Given the description of an element on the screen output the (x, y) to click on. 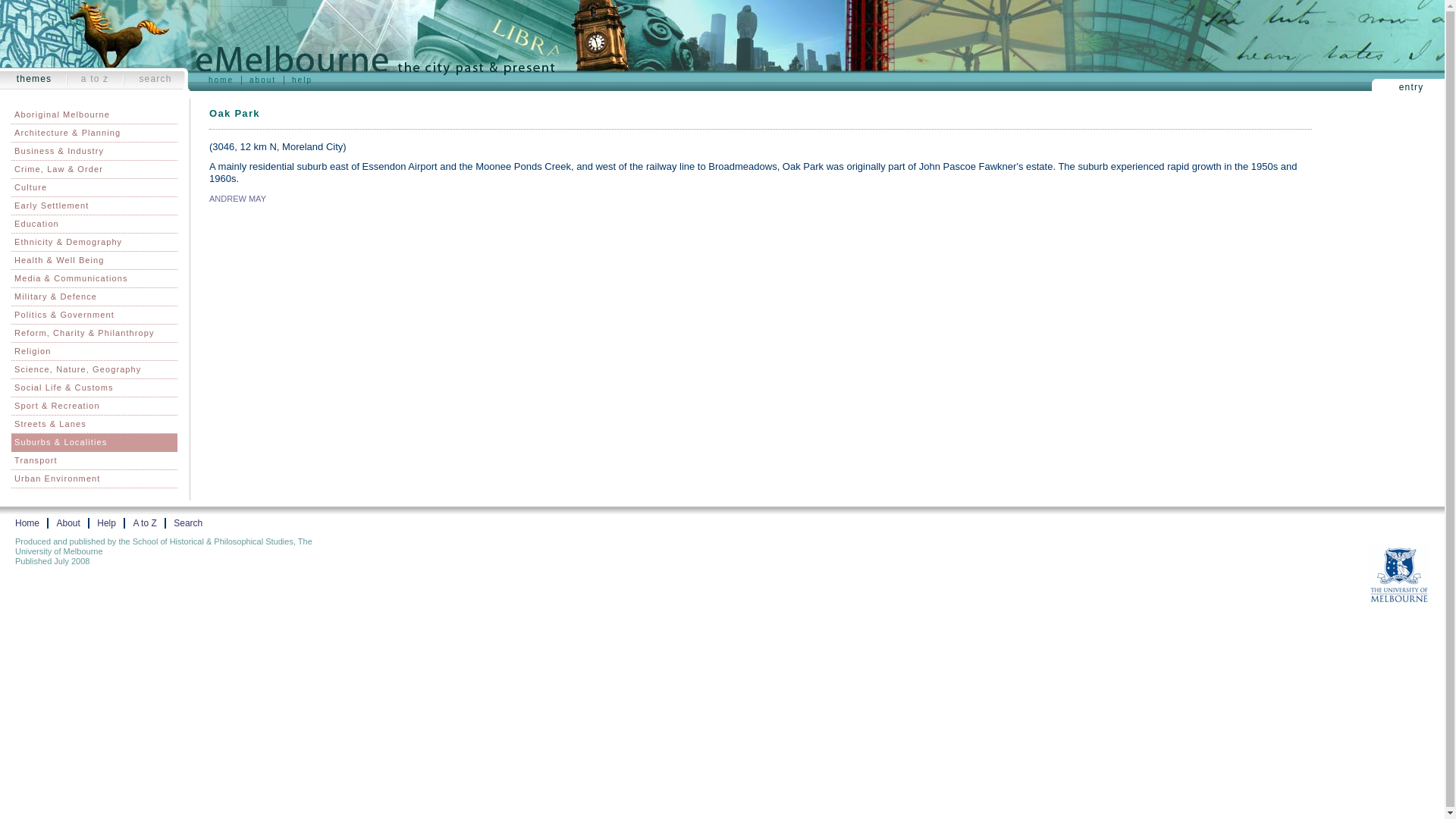
a to z Element type: text (95, 78)
Culture Element type: text (94, 187)
Military & Defence Element type: text (94, 297)
Politics & Government Element type: text (94, 315)
entry Element type: text (1410, 86)
Education Element type: text (94, 224)
Transport Element type: text (94, 460)
Science, Nature, Geography Element type: text (94, 369)
Suburbs & Localities Element type: text (94, 442)
Social Life & Customs Element type: text (94, 388)
Early Settlement Element type: text (94, 206)
Aboriginal Melbourne Element type: text (94, 115)
Help Element type: text (106, 522)
Health & Well Being Element type: text (94, 260)
Home Element type: text (27, 522)
Urban Environment Element type: text (94, 479)
Reform, Charity & Philanthropy Element type: text (94, 333)
Streets & Lanes Element type: text (94, 424)
About Element type: text (67, 522)
Crime, Law & Order Element type: text (94, 169)
A to Z Element type: text (144, 522)
about Element type: text (262, 79)
home Element type: text (220, 79)
Sport & Recreation Element type: text (94, 406)
themes Element type: text (34, 78)
Ethnicity & Demography Element type: text (94, 242)
Architecture & Planning Element type: text (94, 133)
Business & Industry Element type: text (94, 151)
Media & Communications Element type: text (94, 278)
Religion Element type: text (94, 351)
Search Element type: text (187, 522)
search Element type: text (154, 78)
help Element type: text (301, 79)
